Given the description of an element on the screen output the (x, y) to click on. 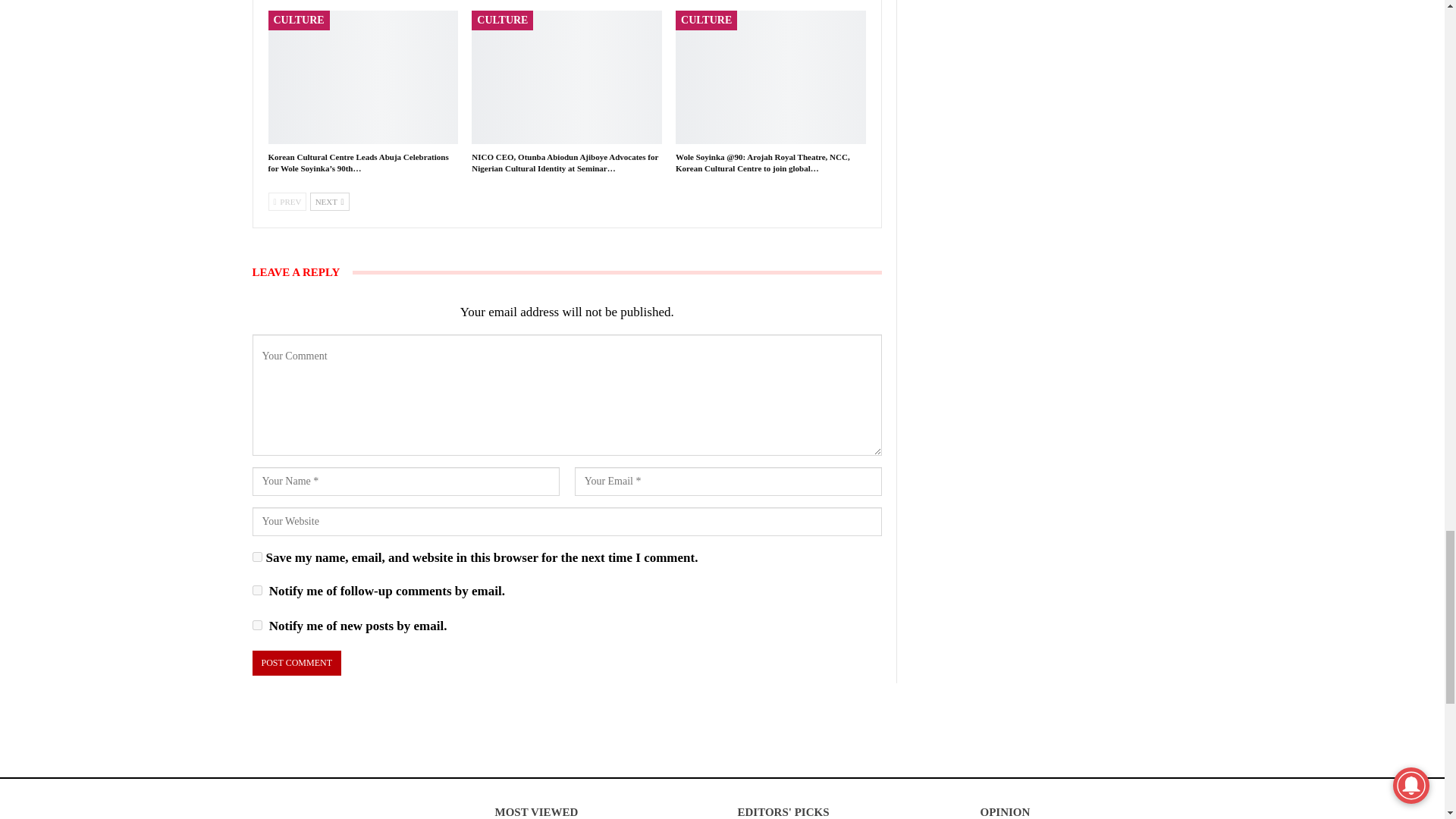
Post Comment (295, 662)
subscribe (256, 590)
yes (256, 556)
subscribe (256, 624)
